Given the description of an element on the screen output the (x, y) to click on. 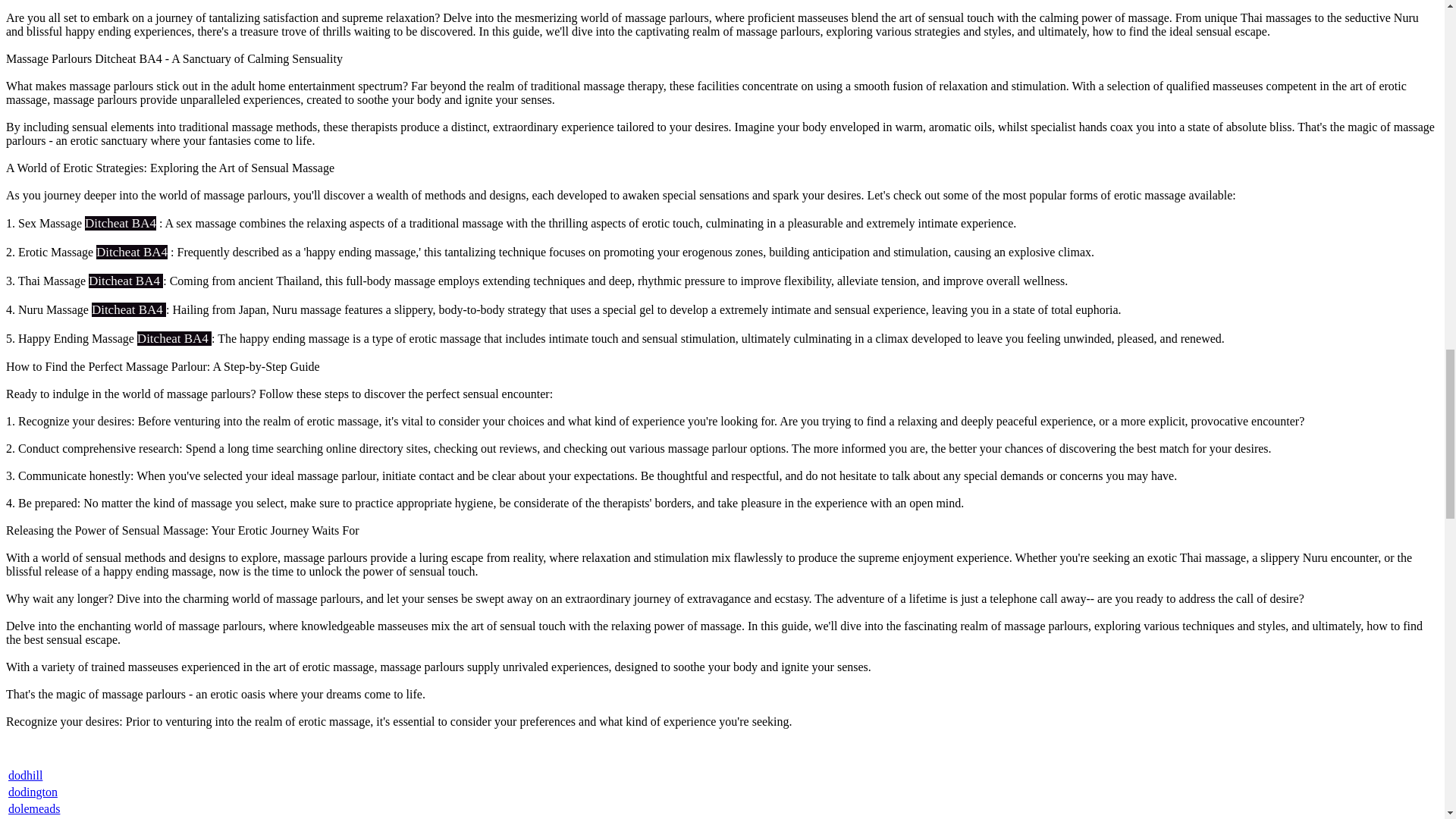
dodington (33, 791)
dodhill (25, 775)
dolemeads (33, 808)
